Given the description of an element on the screen output the (x, y) to click on. 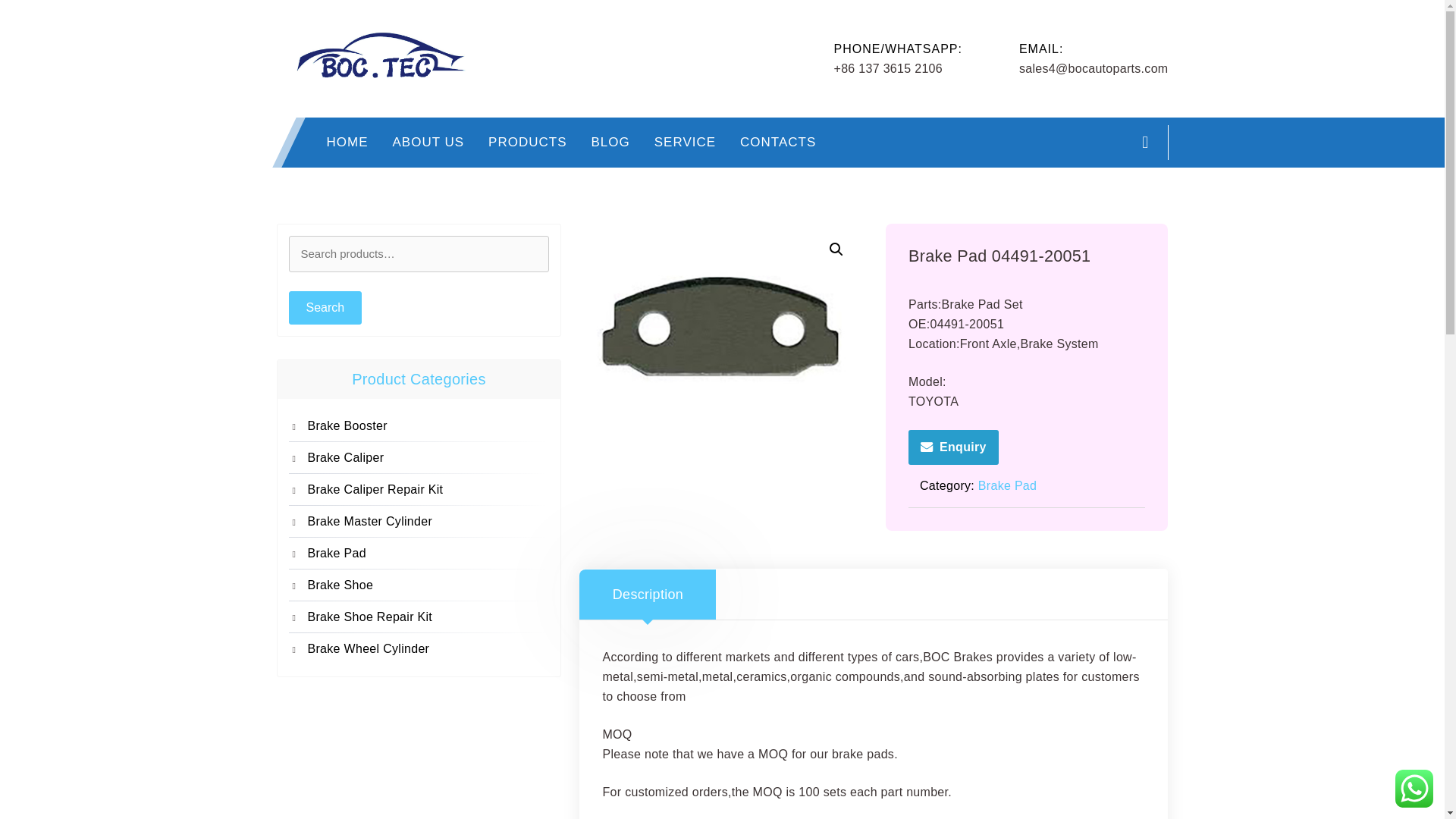
Brake Booster (428, 425)
Brake Wheel Cylinder (428, 649)
SERVICE (685, 142)
Brake Caliper Repair Kit (428, 489)
HOME (347, 142)
Description (647, 594)
Search (324, 307)
Brake Pad (1007, 485)
PRODUCTS (527, 142)
Brake Master Cylinder (428, 521)
Enquiry (953, 447)
ABOUT US (428, 142)
Brake Caliper (428, 457)
04491-20051 (720, 328)
BLOG (610, 142)
